Given the description of an element on the screen output the (x, y) to click on. 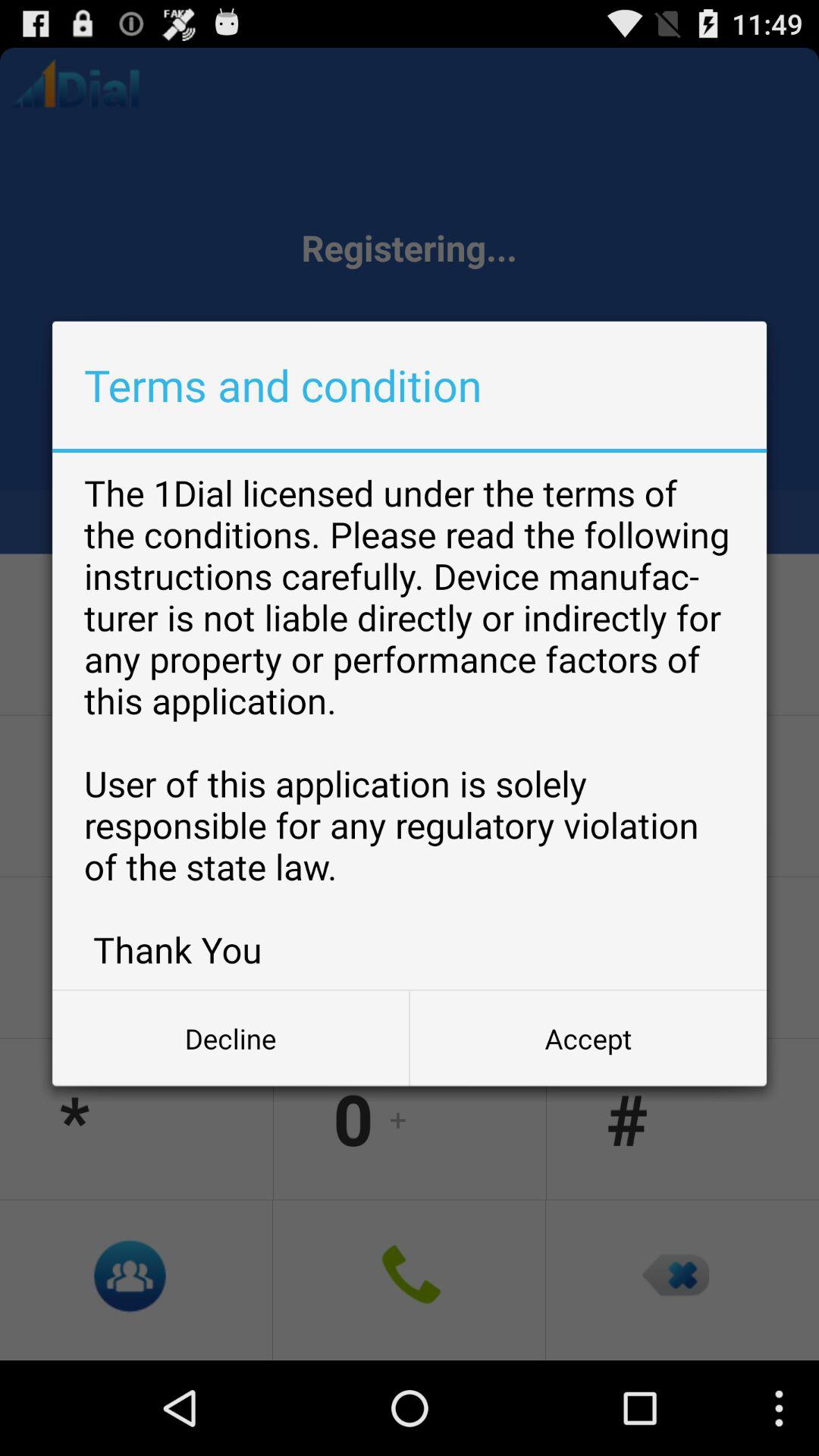
tap the item next to the accept icon (230, 1038)
